Given the description of an element on the screen output the (x, y) to click on. 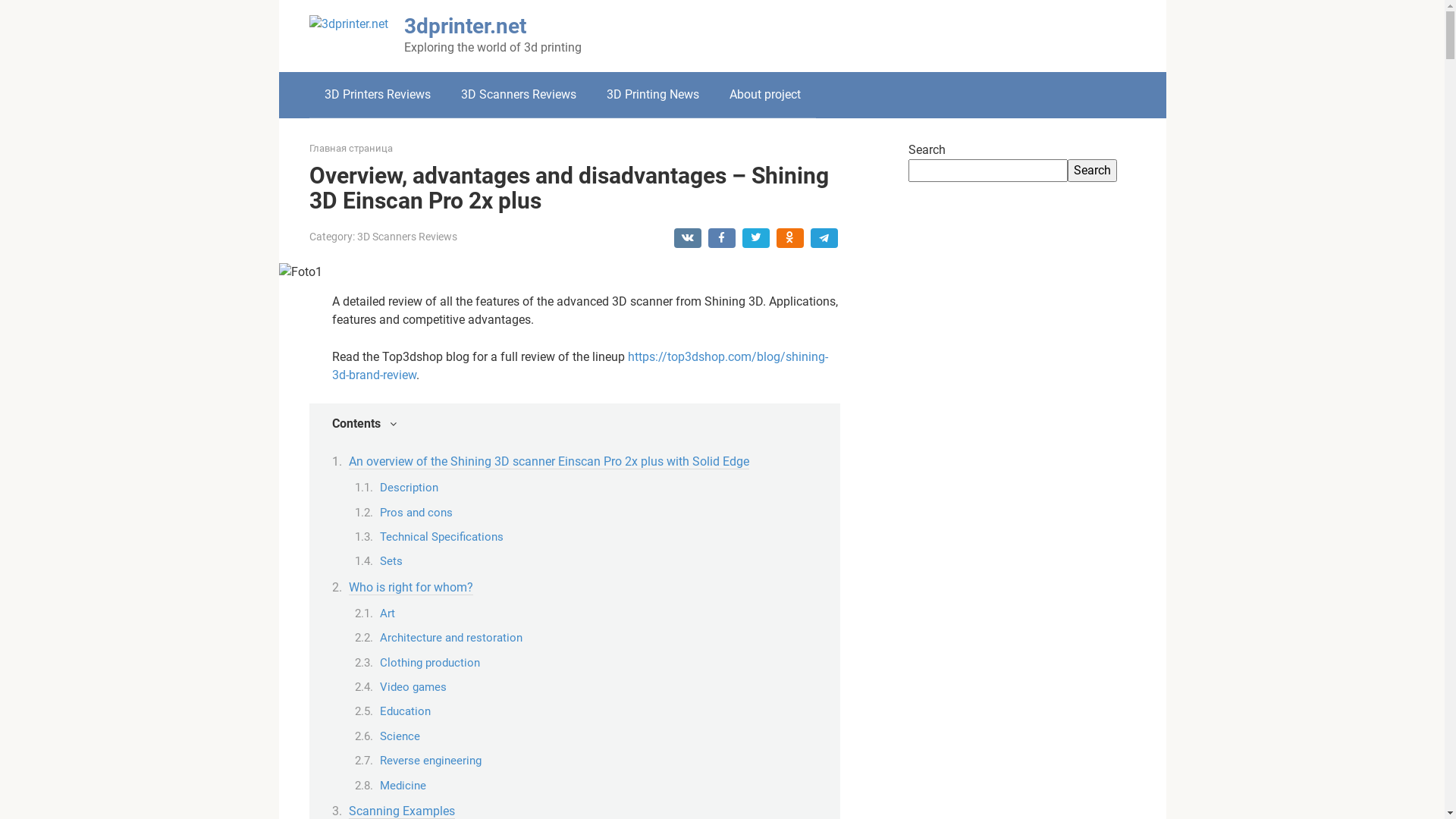
Architecture and restoration Element type: text (450, 637)
Medicine Element type: text (402, 785)
3D Scanners Reviews Element type: text (518, 94)
3dprinter.net Element type: text (464, 25)
Clothing production Element type: text (429, 662)
Science Element type: text (399, 736)
Video games Element type: text (412, 686)
Reverse engineering Element type: text (429, 760)
Education Element type: text (404, 711)
3D Printers Reviews Element type: text (377, 94)
Sets Element type: text (390, 560)
Who is right for whom? Element type: text (410, 587)
3D Scanners Reviews Element type: text (406, 236)
Technical Specifications Element type: text (440, 536)
Art Element type: text (386, 613)
Pros and cons Element type: text (415, 512)
About project Element type: text (764, 94)
https://top3dshop.com/blog/shining-3d-brand-review Element type: text (580, 365)
3D Printing News Element type: text (652, 94)
Skip to content Element type: text (0, 0)
Search Element type: text (1092, 170)
Description Element type: text (408, 487)
